Given the description of an element on the screen output the (x, y) to click on. 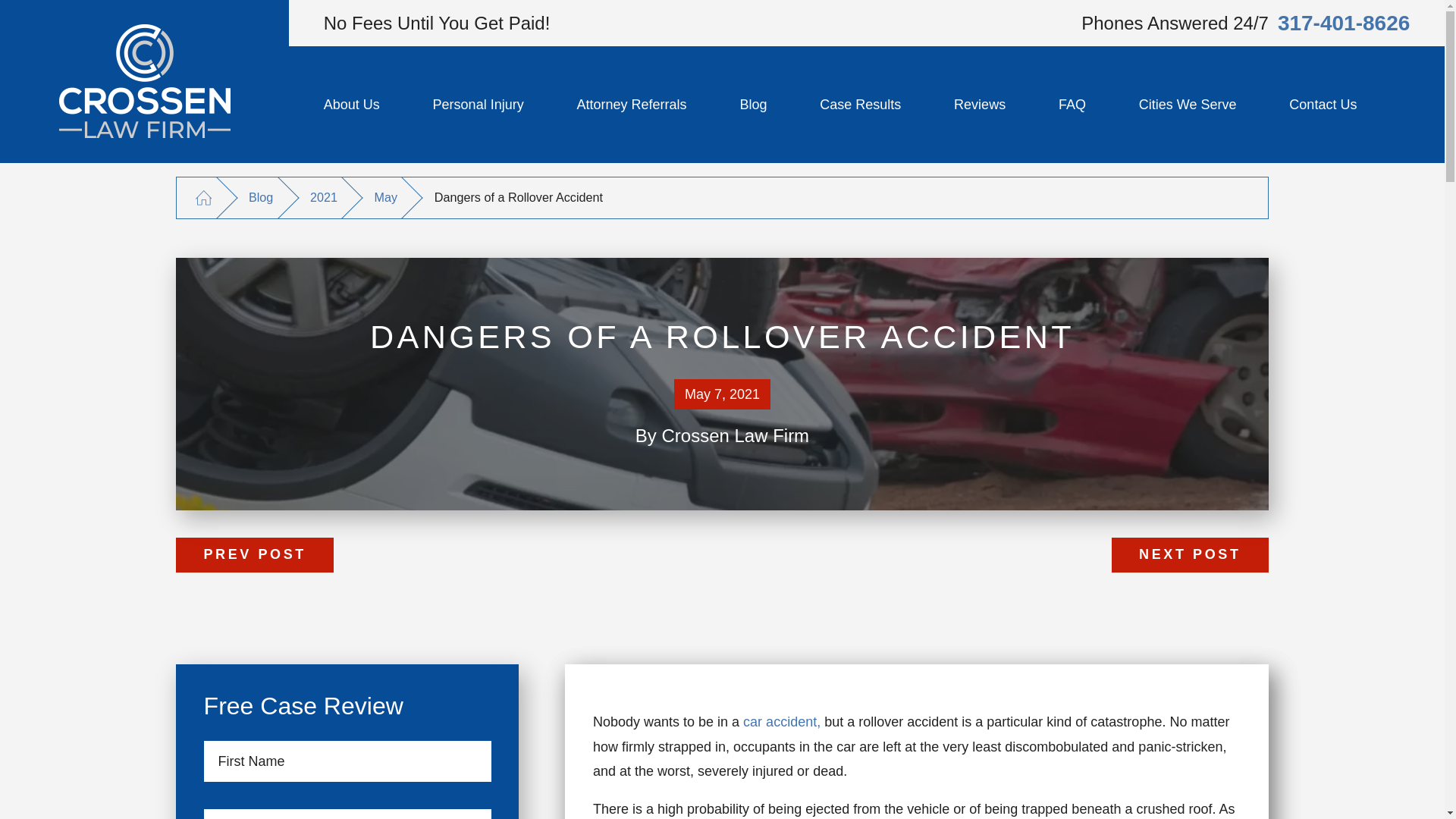
Attorney Referrals (630, 103)
Go Home (203, 198)
Crossen Law Firm (144, 81)
317-401-8626 (1343, 23)
